Given the description of an element on the screen output the (x, y) to click on. 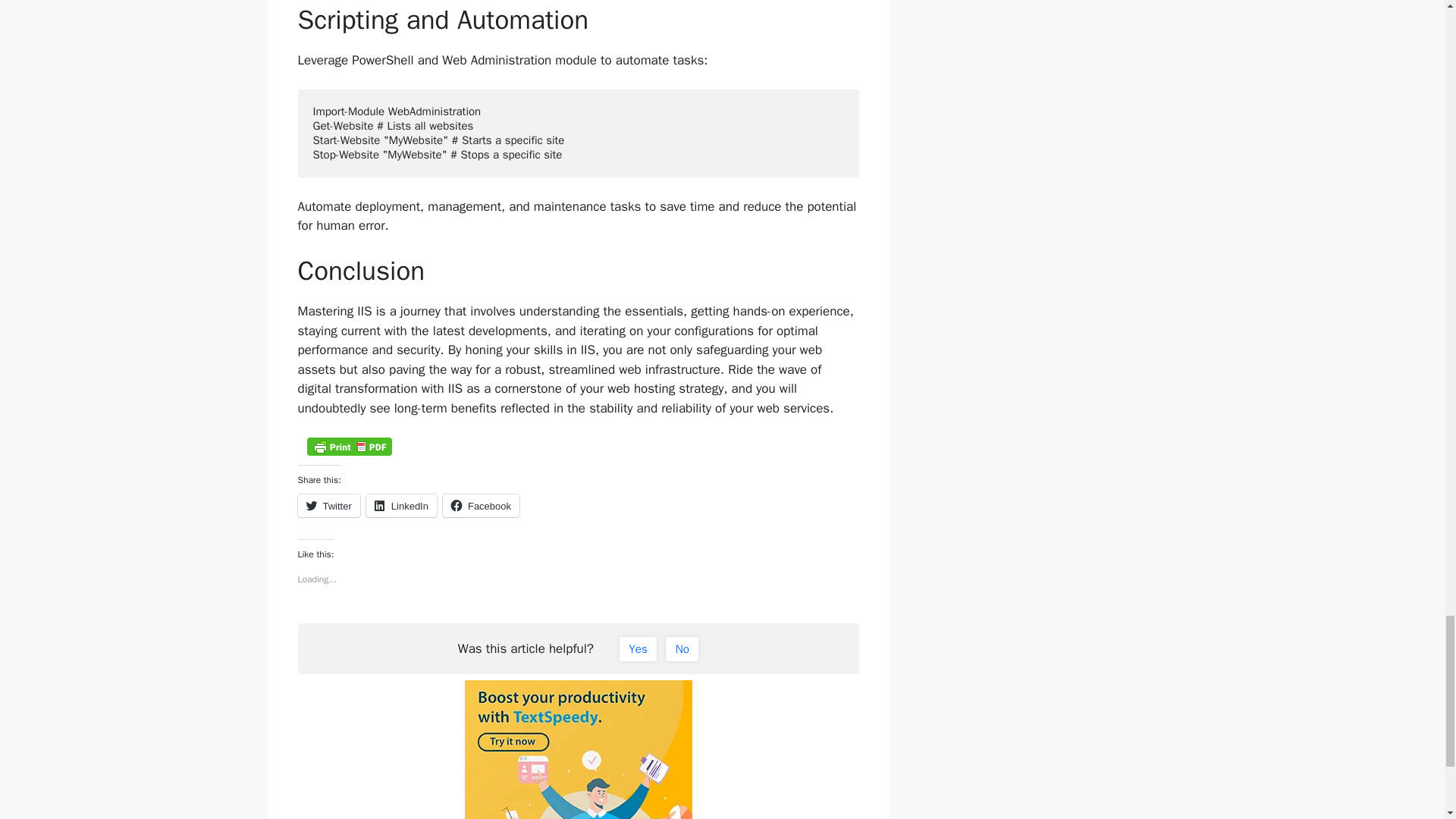
LinkedIn (401, 505)
Click to share on Twitter (328, 505)
Facebook (480, 505)
Twitter (328, 505)
Click to share on LinkedIn (401, 505)
Click to share on Facebook (480, 505)
